Given the description of an element on the screen output the (x, y) to click on. 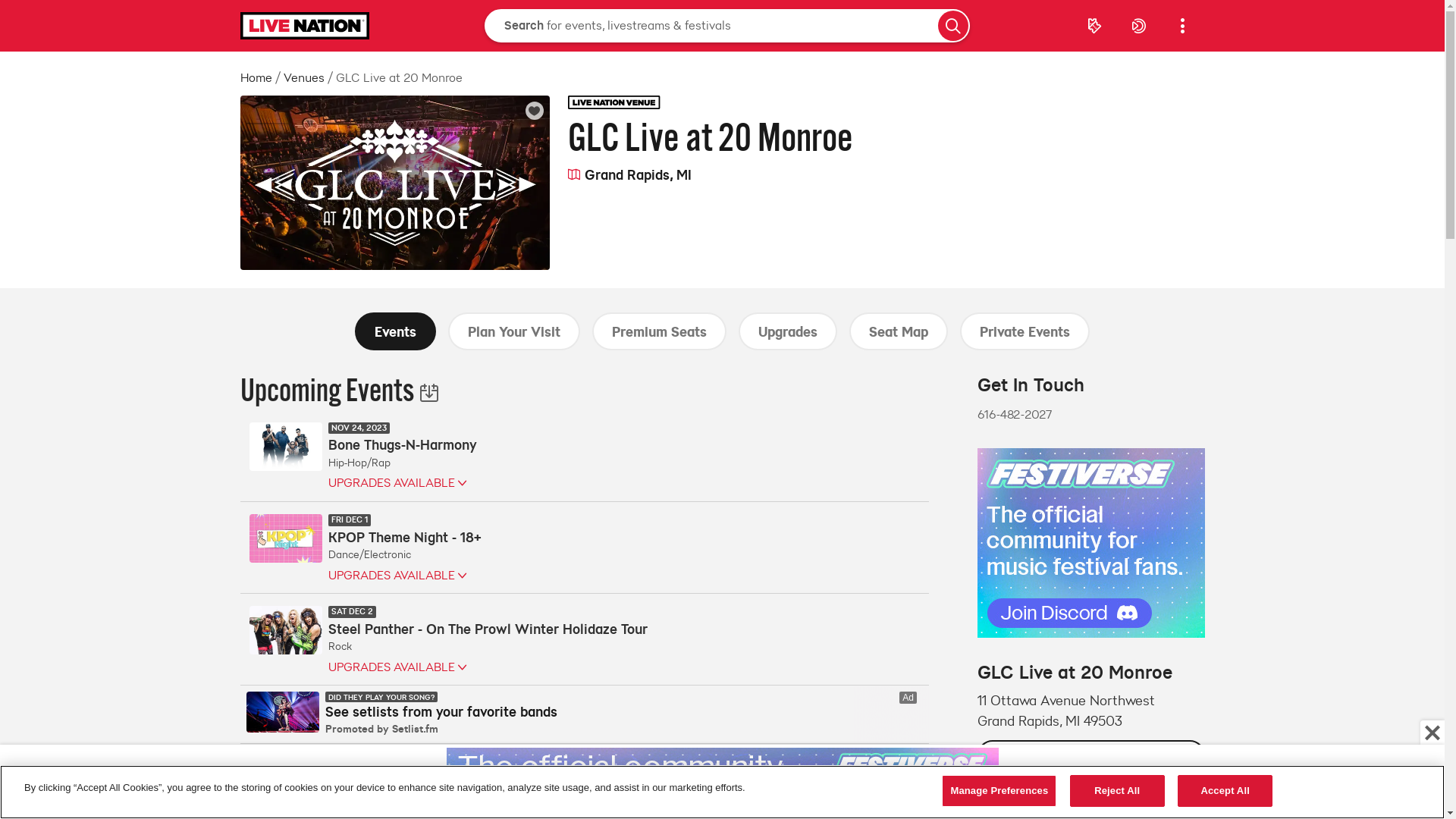
Grand Rapids, MI Element type: text (628, 175)
11 Ottawa Avenue Northwest
Grand Rapids, MI 49503 Element type: text (1090, 710)
Home Element type: text (255, 77)
UPGRADES AVAILABLE Element type: text (401, 482)
Accept All Element type: text (1224, 790)
3rd party ad content Element type: hover (583, 714)
3rd party ad content Element type: hover (721, 781)
Seat Map Element type: text (898, 331)
UPGRADES AVAILABLE Element type: text (486, 666)
Plan Your Visit Element type: text (514, 331)
Upgrades Element type: text (787, 331)
Manage Preferences Element type: text (998, 790)
3rd party ad content Element type: hover (1090, 542)
Premium Seats Element type: text (659, 331)
Reject All Element type: text (1117, 790)
Events Element type: text (395, 331)
VIEW MAP Element type: text (1090, 755)
Venues Element type: text (303, 77)
Private Events Element type: text (1024, 331)
UPGRADES AVAILABLE Element type: text (403, 575)
